Given the description of an element on the screen output the (x, y) to click on. 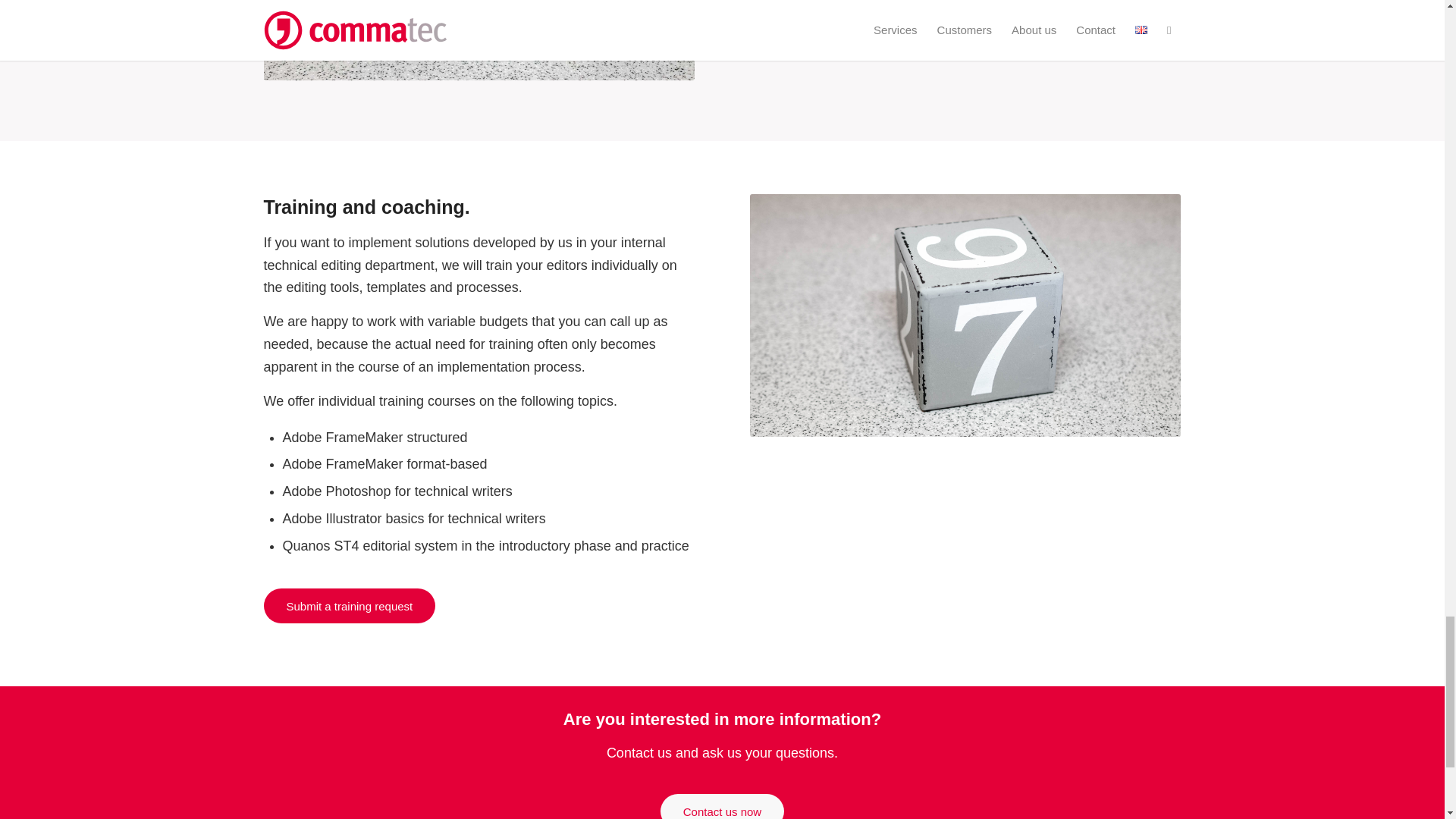
w-6 (479, 40)
Contact us now (722, 806)
w-7 (964, 315)
Submit a training request (349, 605)
